Given the description of an element on the screen output the (x, y) to click on. 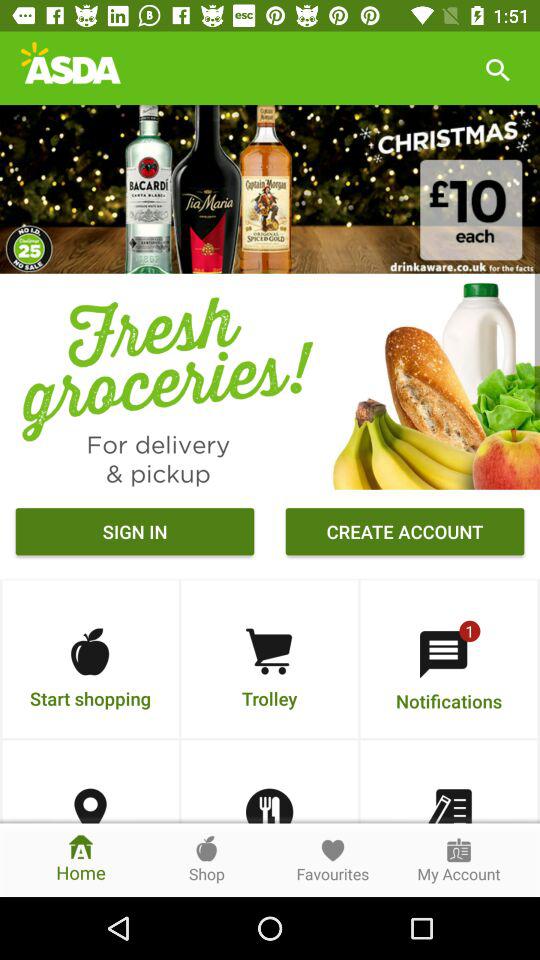
click the item to the right of the sign in item (404, 534)
